Given the description of an element on the screen output the (x, y) to click on. 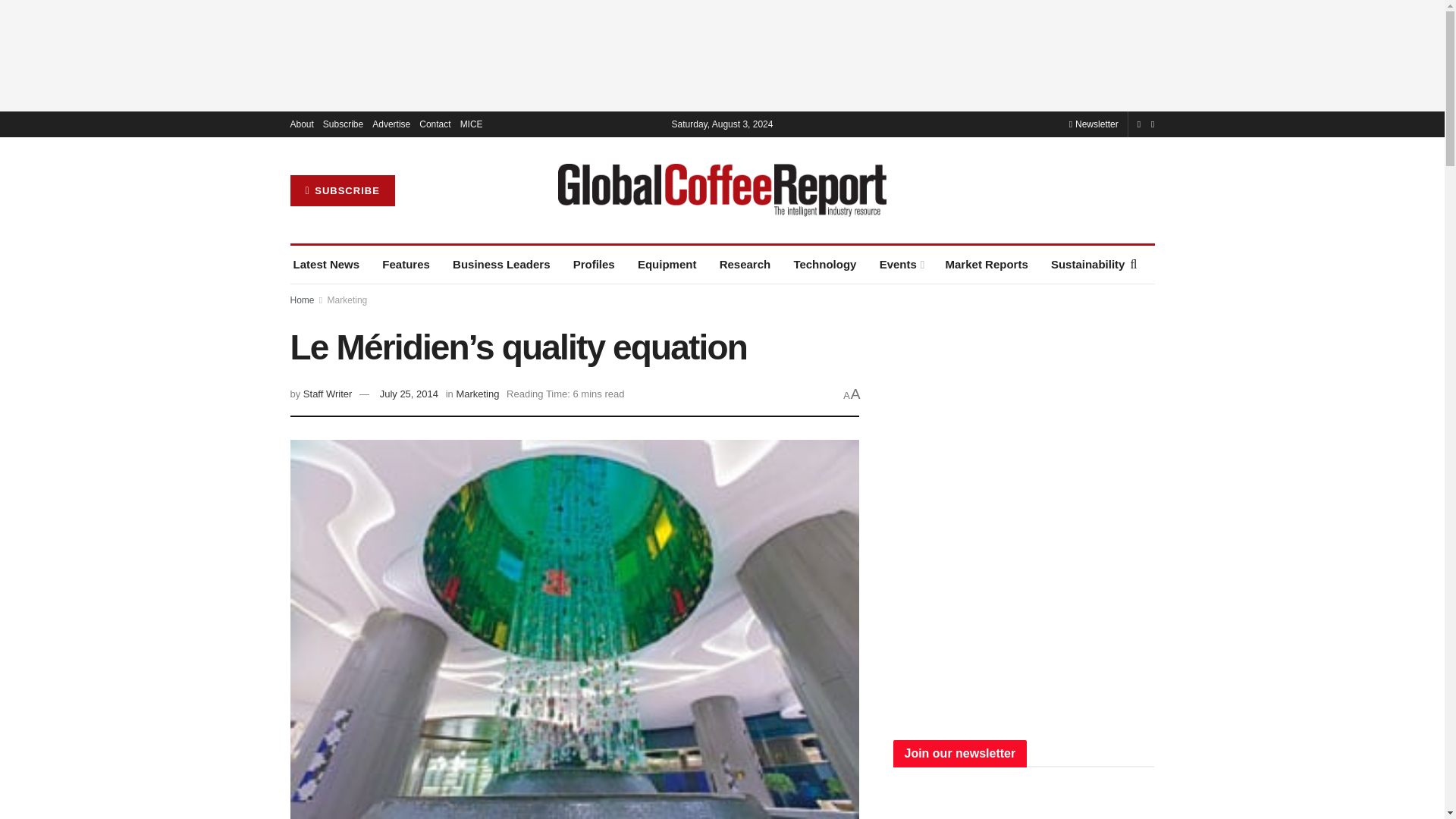
Features (405, 264)
Subscribe (342, 124)
Profiles (593, 264)
Advertise (391, 124)
3rd party ad content (721, 55)
Equipment (667, 264)
Events (901, 264)
Technology (824, 264)
Sustainability (1088, 264)
Market Reports (986, 264)
SUBSCRIBE (341, 190)
Business Leaders (501, 264)
Latest News (325, 264)
About (301, 124)
3rd party ad content (1023, 615)
